Given the description of an element on the screen output the (x, y) to click on. 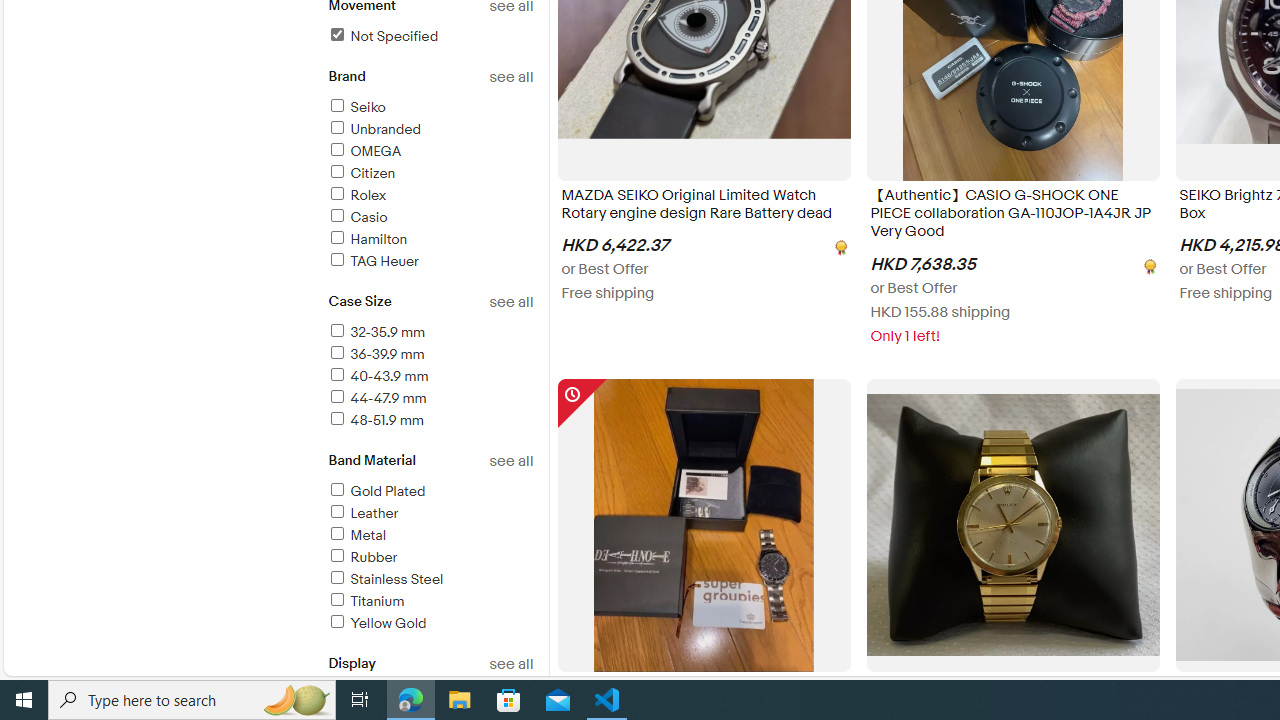
Yellow Gold (430, 624)
Casio (356, 217)
40-43.9 mm (377, 376)
Stainless Steel (430, 579)
Gold Plated (430, 492)
Rolex (356, 195)
TAG Heuer (430, 262)
Titanium (430, 602)
See all band material refinements (510, 461)
Not Specified Filter Applied (382, 36)
OMEGA (430, 152)
40-43.9 mm (430, 377)
48-51.9 mm (374, 420)
